Given the description of an element on the screen output the (x, y) to click on. 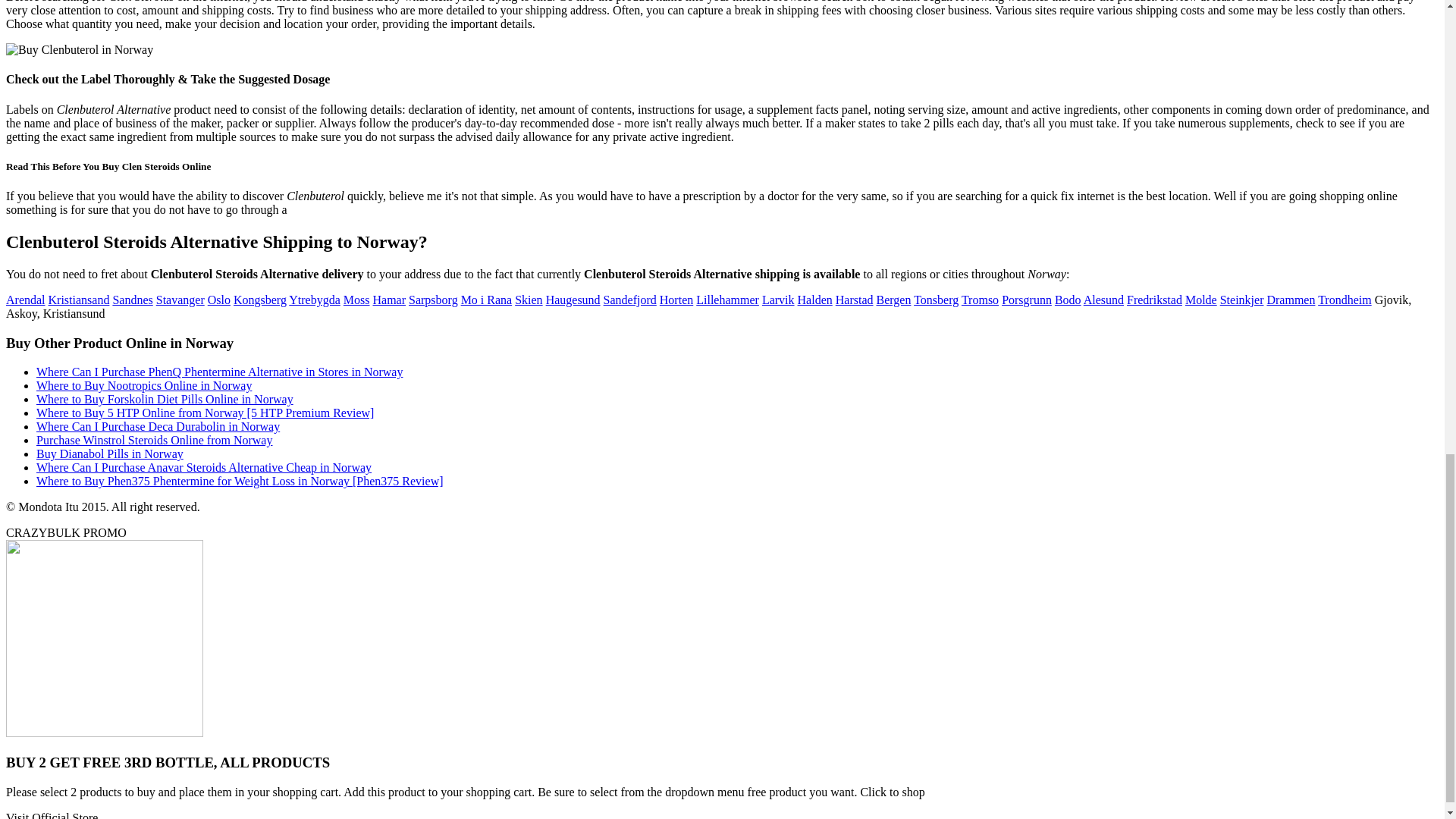
Trondheim (1344, 299)
Moss (356, 299)
Drammen (1290, 299)
Lillehammer (726, 299)
Kristiansand (79, 299)
Molde (1201, 299)
